Given the description of an element on the screen output the (x, y) to click on. 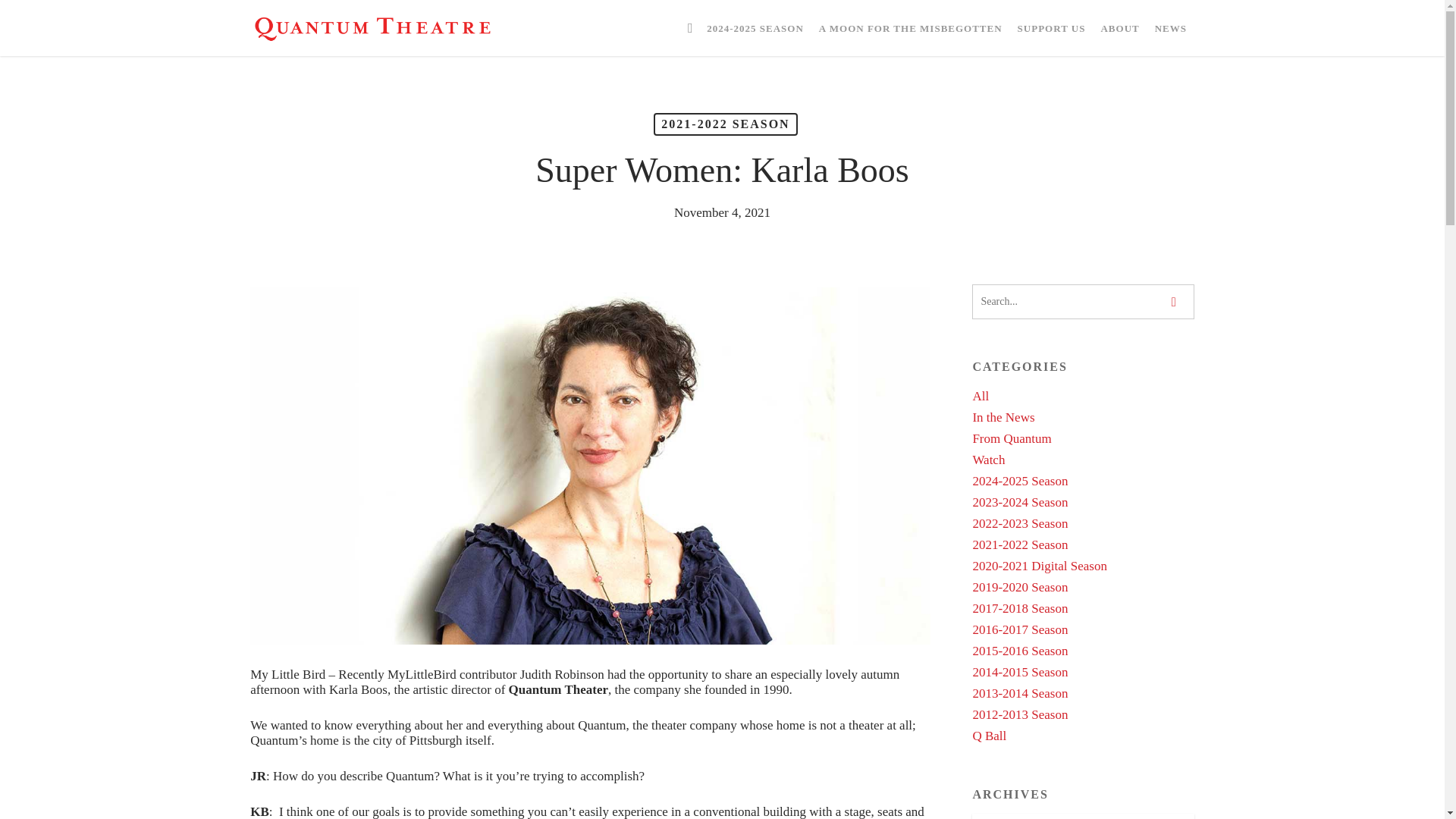
From Quantum (1082, 438)
2021-2022 Season (1082, 544)
2022-2023 Season (1082, 523)
In the News (1082, 417)
2024-2025 SEASON (754, 27)
2021-2022 SEASON (724, 124)
2024-2025 Season (1082, 481)
SUPPORT US (1051, 27)
2020-2021 Digital Season (1082, 566)
Watch (1082, 459)
